Given the description of an element on the screen output the (x, y) to click on. 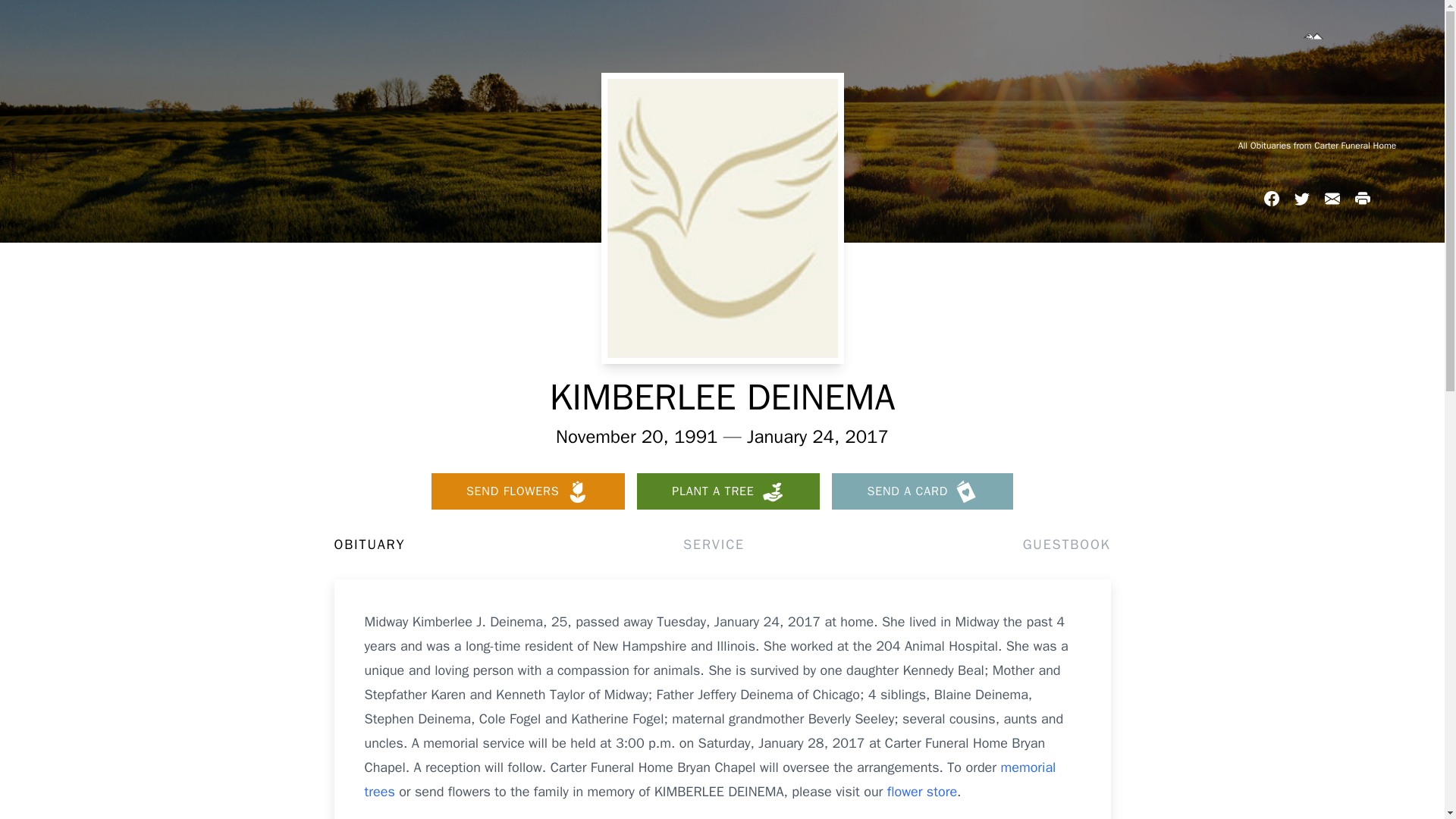
SERVICE (713, 544)
All Obituaries from Carter Funeral Home (1316, 145)
GUESTBOOK (1066, 544)
SEND A CARD (922, 491)
memorial trees (709, 779)
OBITUARY (368, 544)
SEND FLOWERS (527, 491)
PLANT A TREE (728, 491)
flower store (921, 791)
